Given the description of an element on the screen output the (x, y) to click on. 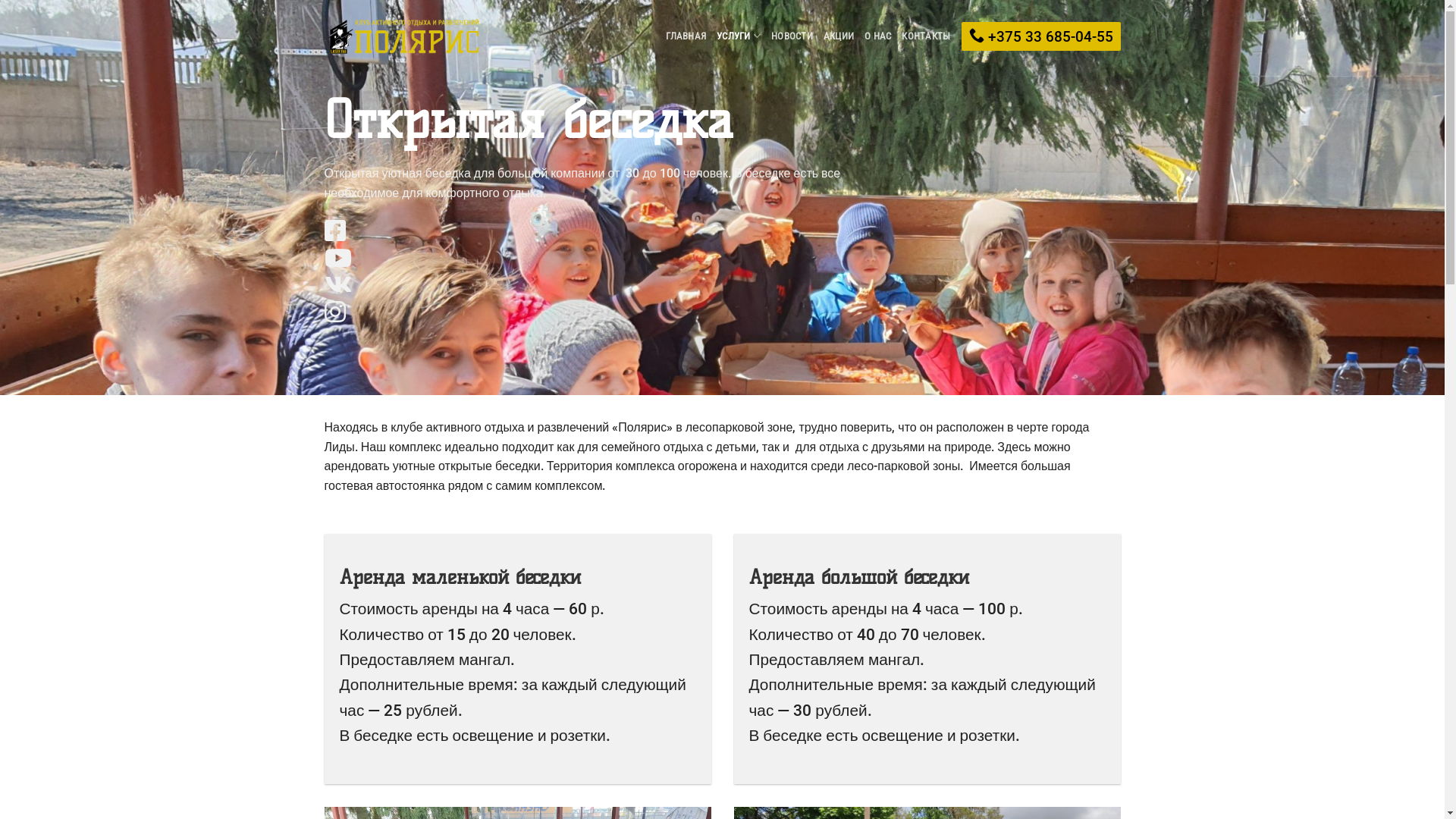
Skip to content Element type: text (0, 0)
+375 33 685-04-55 Element type: text (1041, 36)
